Given the description of an element on the screen output the (x, y) to click on. 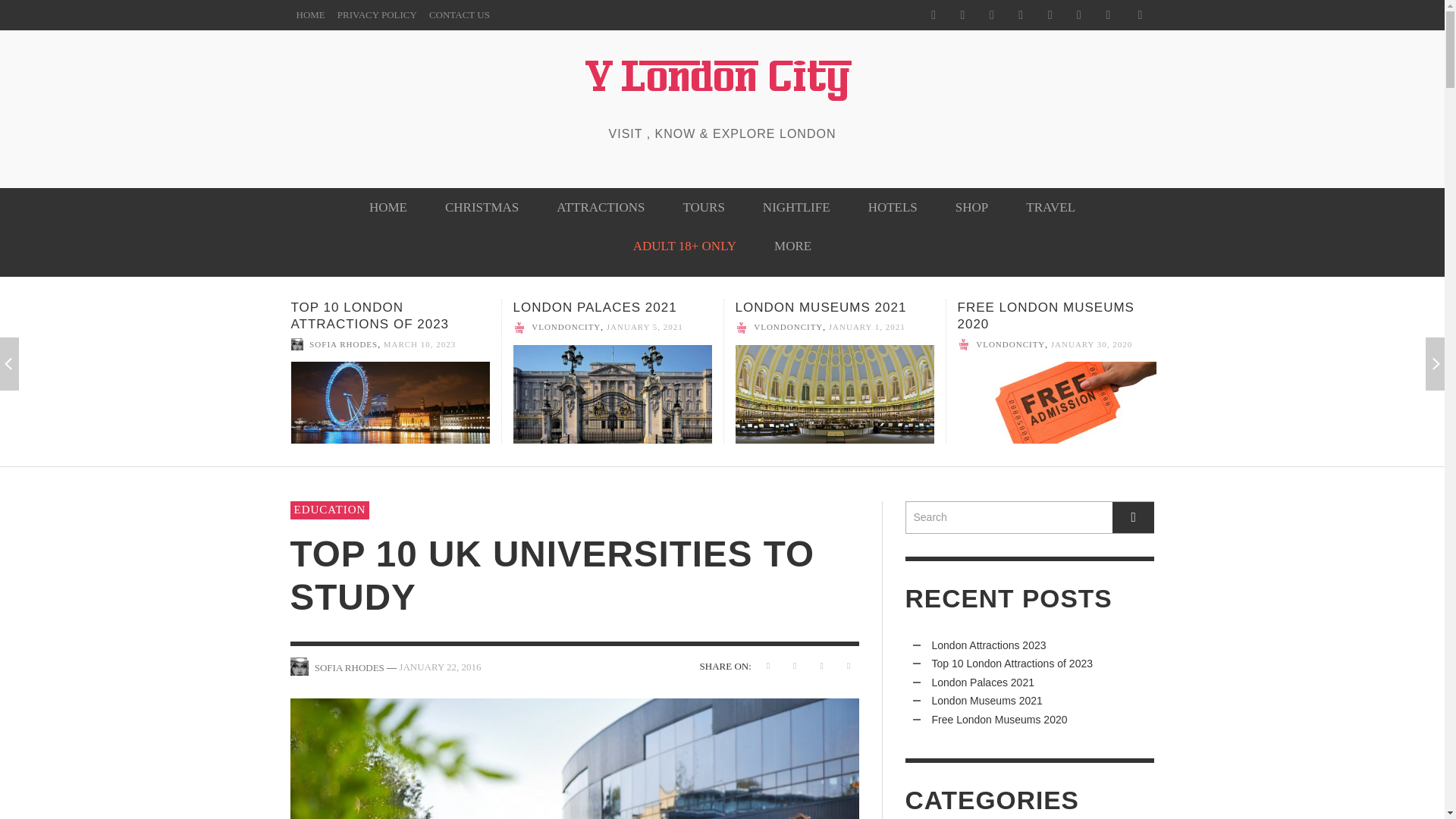
Pinterest (991, 15)
Facebook (932, 15)
Youtube (1107, 15)
Yahoo (1078, 15)
Twitter (1020, 15)
Vimeo (1049, 15)
Search (1029, 517)
